Given the description of an element on the screen output the (x, y) to click on. 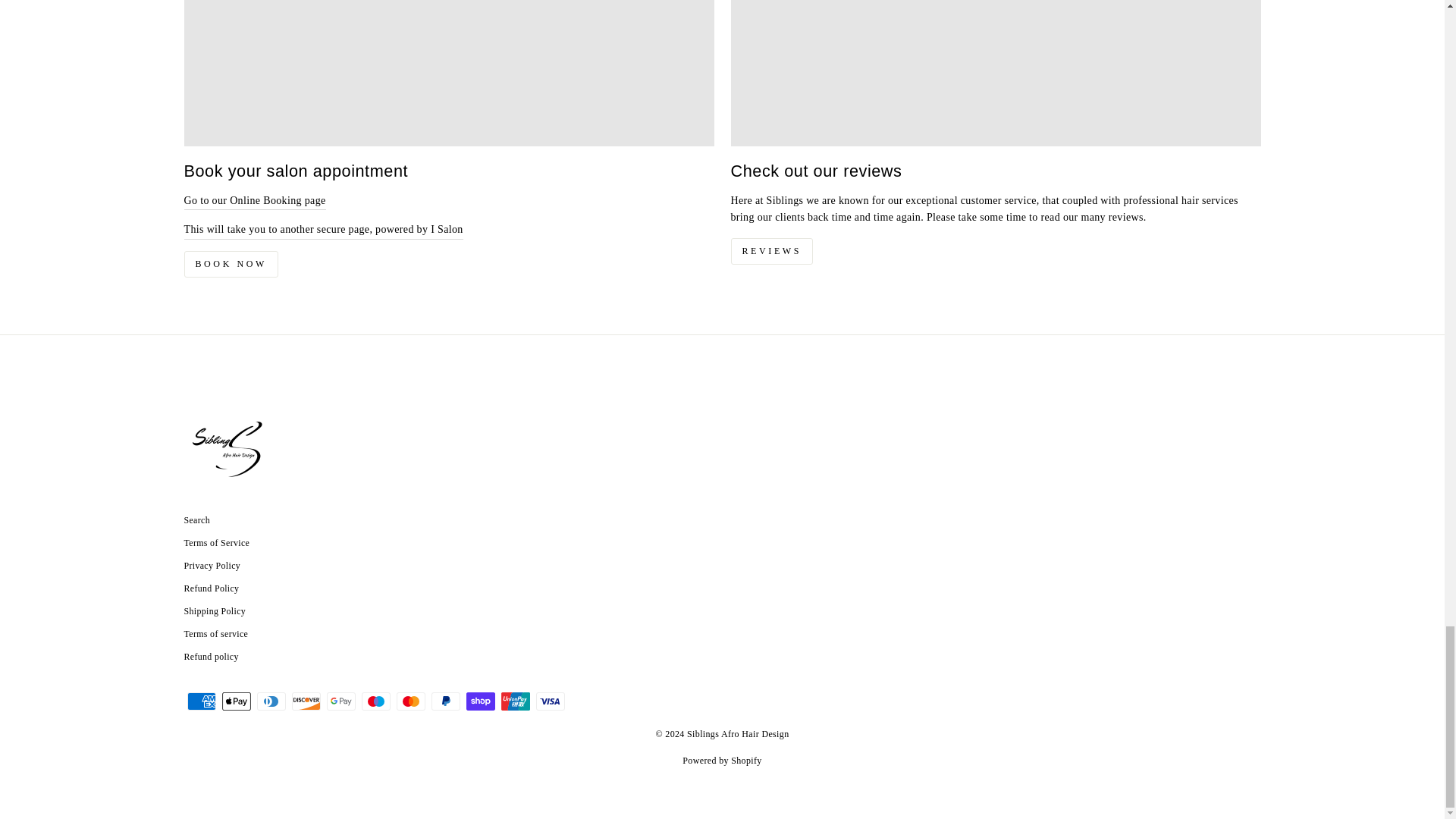
Google Pay (340, 701)
Diners Club (270, 701)
Book Online (323, 230)
Mastercard (410, 701)
Apple Pay (235, 701)
Shop Pay (480, 701)
American Express (200, 701)
PayPal (445, 701)
Maestro (375, 701)
Visa (549, 701)
Union Pay (514, 701)
Discover (305, 701)
